Given the description of an element on the screen output the (x, y) to click on. 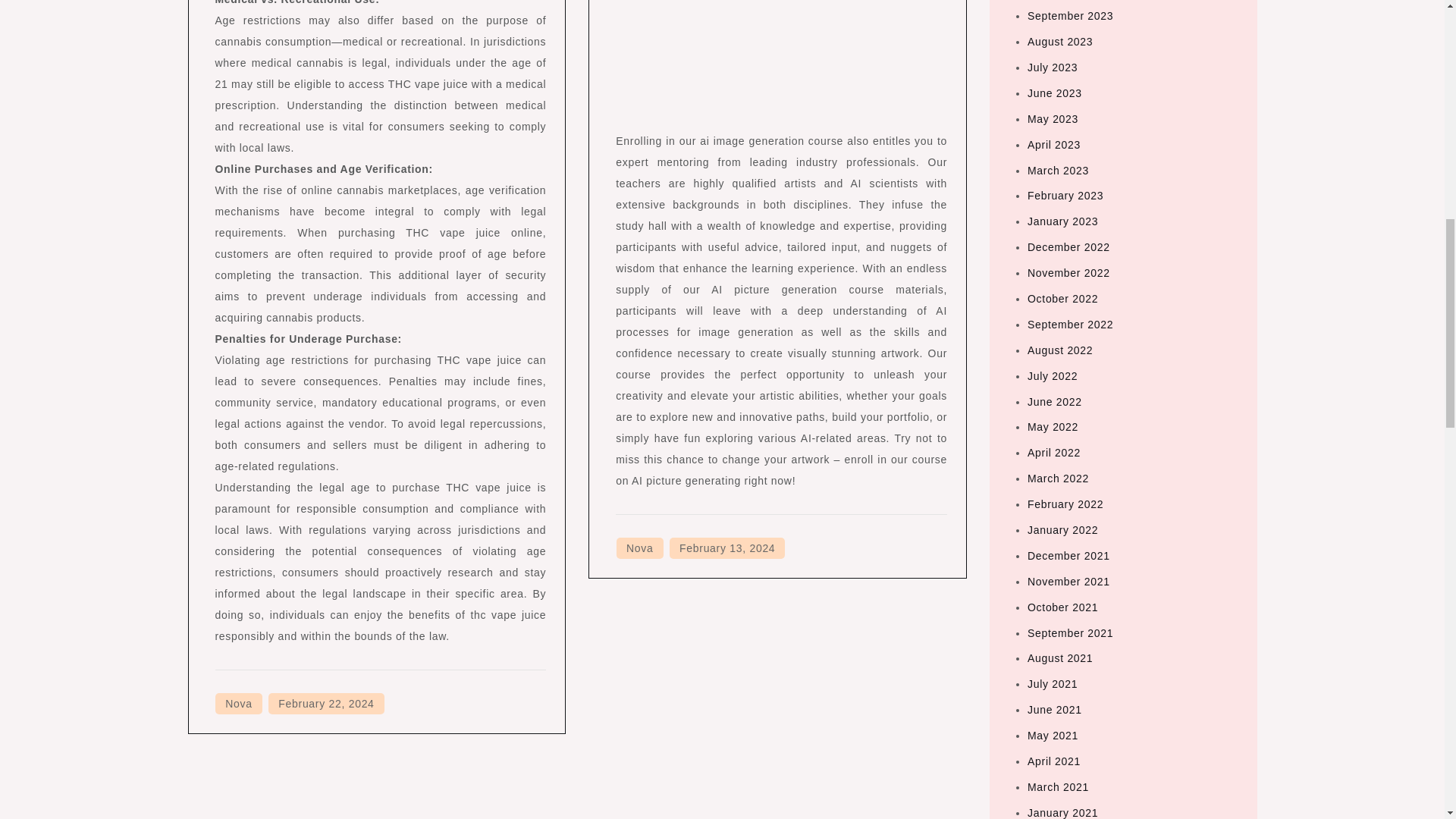
July 2023 (1052, 67)
February 22, 2024 (325, 703)
Nova (238, 703)
September 2023 (1070, 15)
August 2023 (1060, 41)
February 13, 2024 (726, 547)
June 2023 (1054, 92)
April 2023 (1053, 144)
May 2023 (1052, 119)
Nova (638, 547)
